Given the description of an element on the screen output the (x, y) to click on. 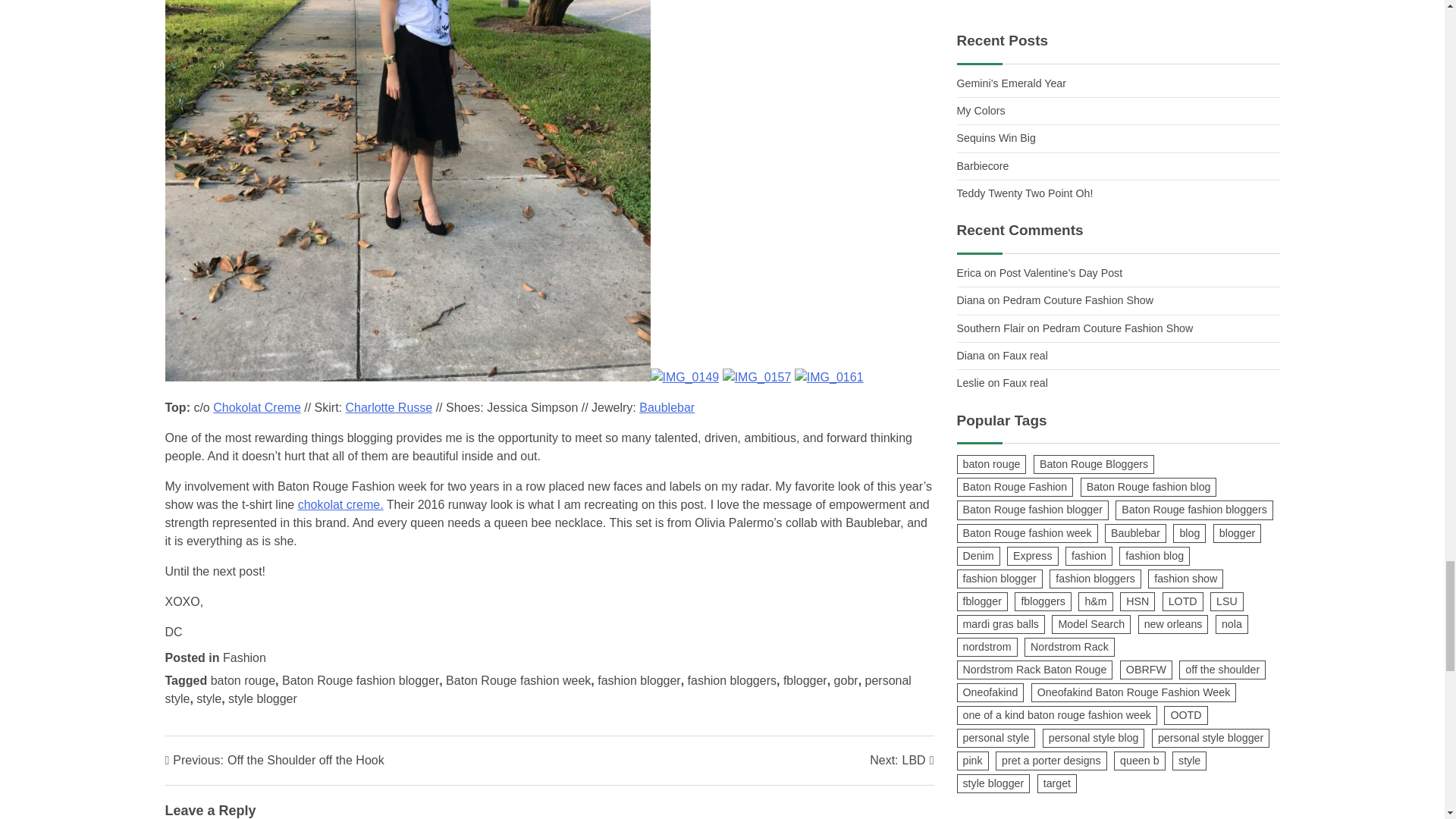
fashion blogger (901, 760)
Baton Rouge fashion blogger (637, 680)
Baublebar (360, 680)
style (666, 407)
style blogger (208, 698)
chokolat creme. (262, 698)
gobr (341, 504)
Charlotte Russe (846, 680)
fblogger (388, 407)
personal style (805, 680)
Chokolat Creme (538, 689)
Baton Rouge fashion week (256, 407)
Fashion (518, 680)
